Given the description of an element on the screen output the (x, y) to click on. 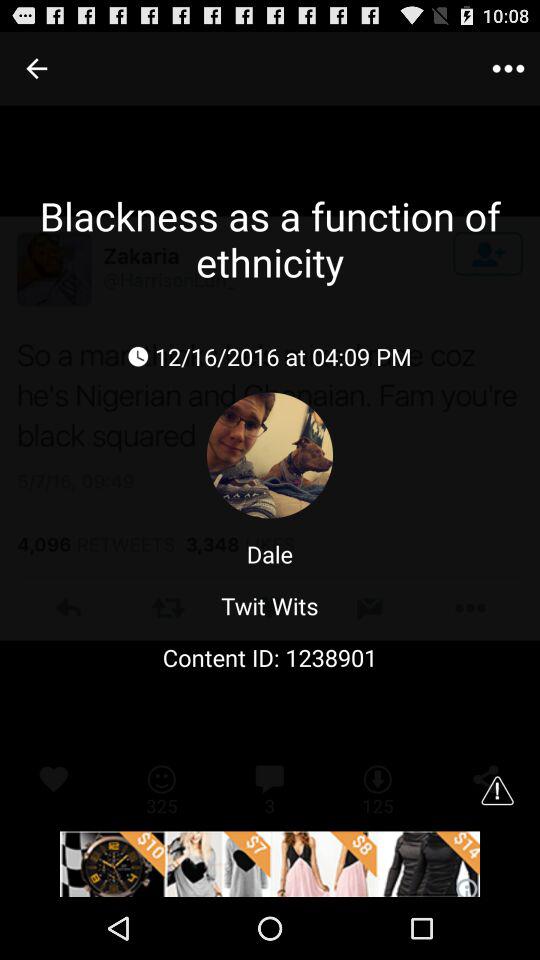
open the advertisement website (270, 864)
